Given the description of an element on the screen output the (x, y) to click on. 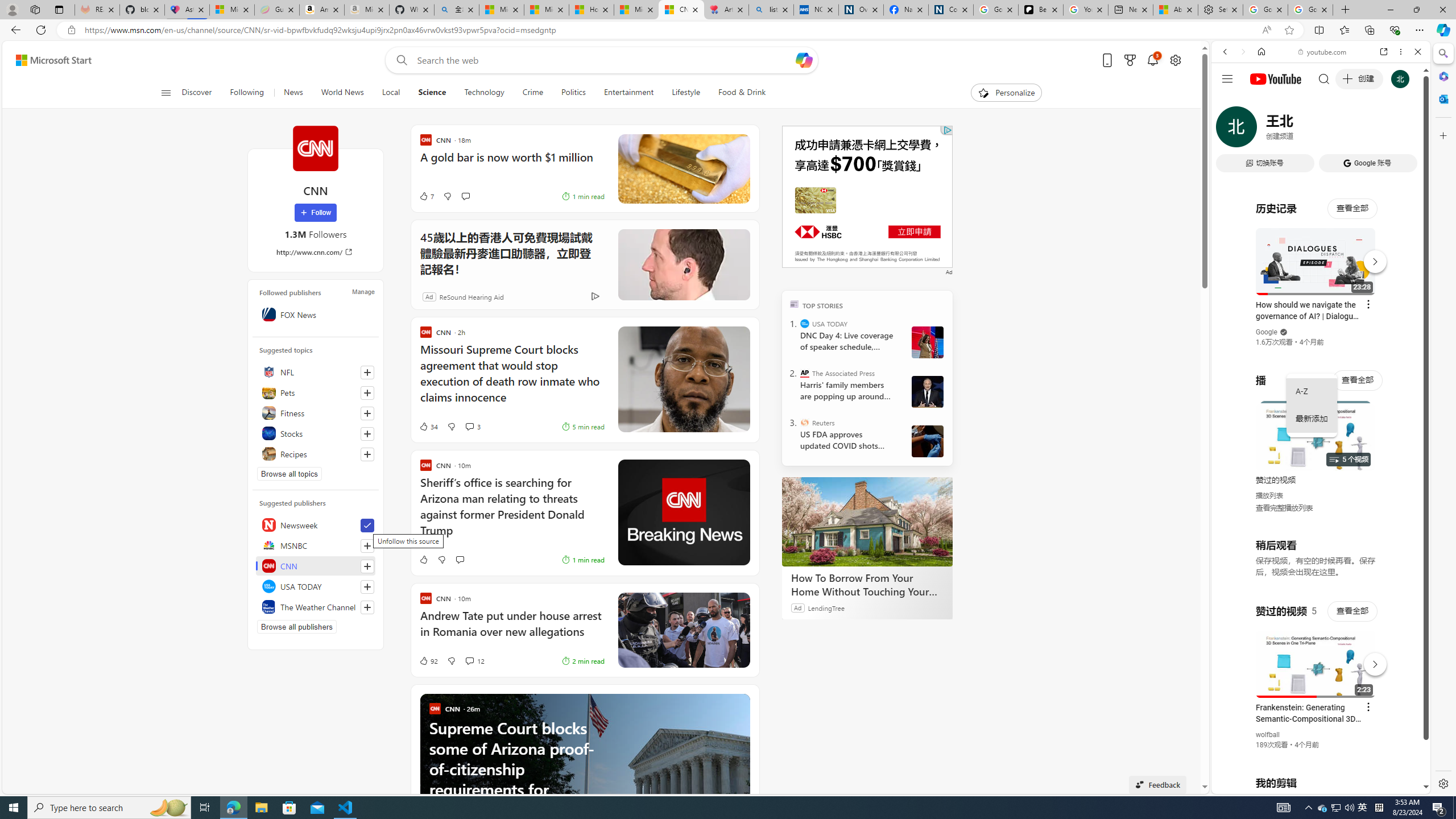
Start the conversation (458, 559)
Skip to content (49, 59)
Click to scroll right (1407, 456)
youtube.com (1322, 51)
A-Z (1311, 391)
NFL (315, 371)
#you (1320, 253)
World News (342, 92)
